Given the description of an element on the screen output the (x, y) to click on. 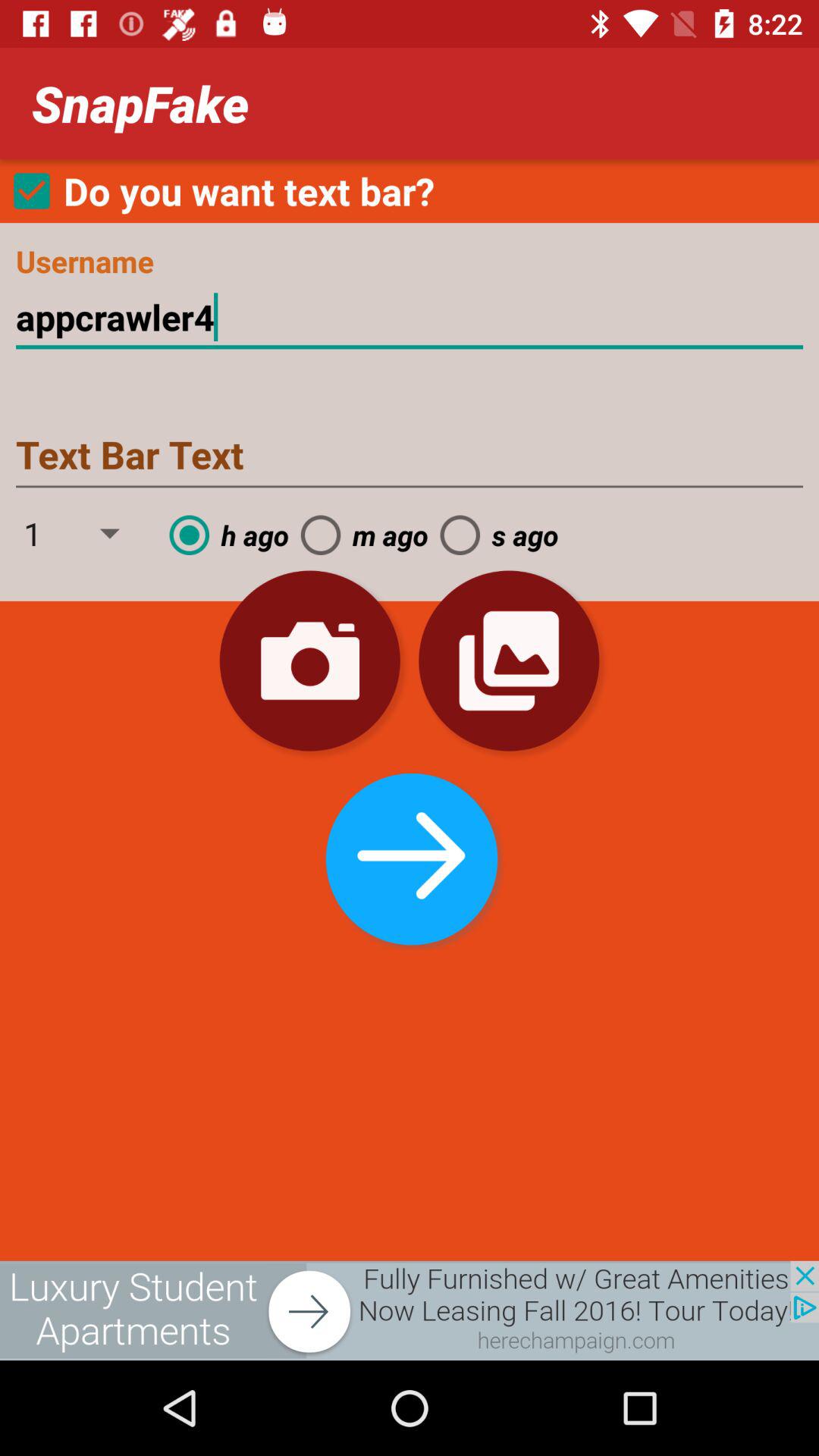
copy (508, 660)
